Given the description of an element on the screen output the (x, y) to click on. 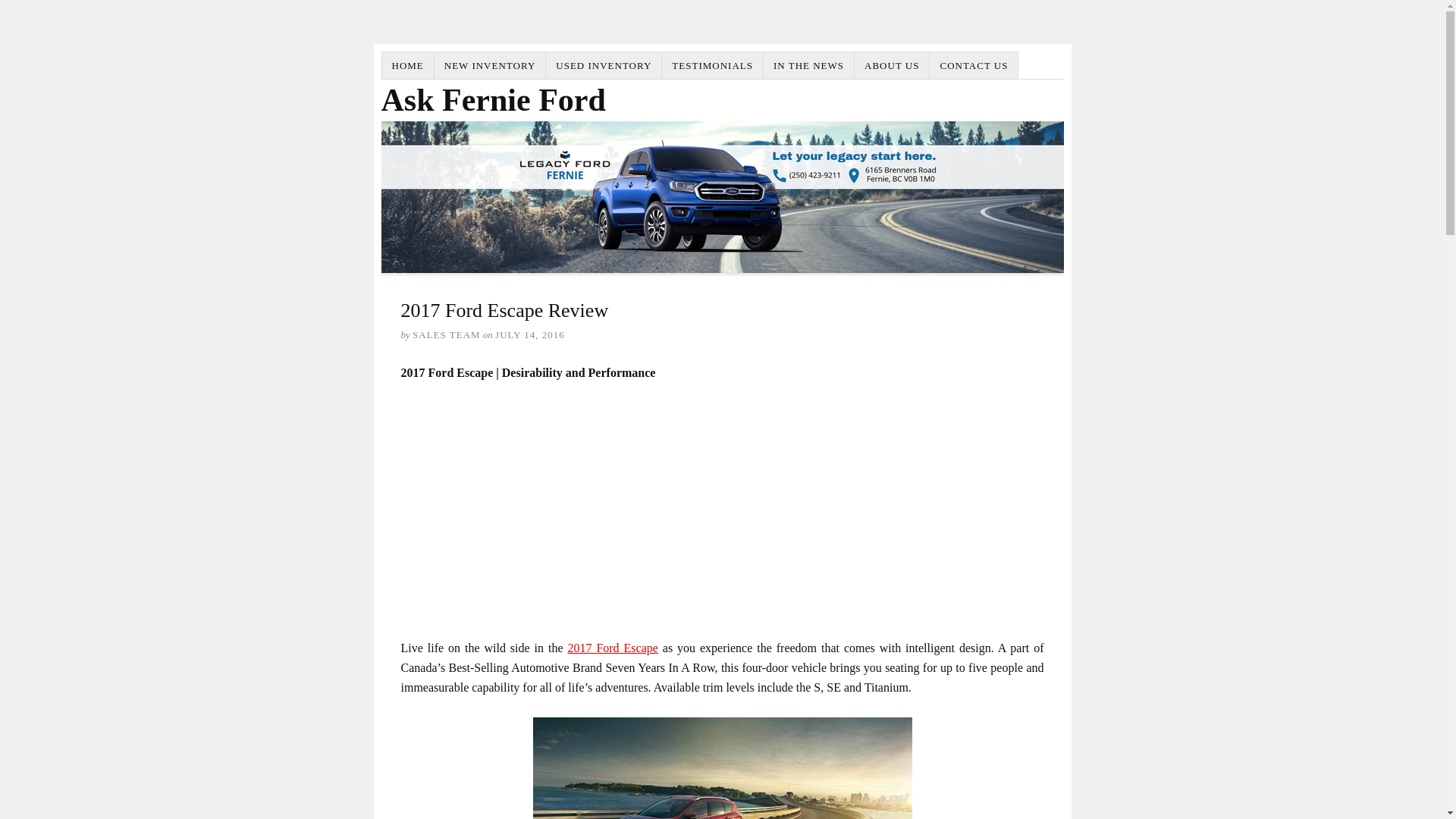
NEW INVENTORY (490, 65)
ABOUT US (892, 65)
2016-07-14 (529, 334)
CONTACT US (973, 65)
HOME (407, 65)
USED INVENTORY (604, 65)
TESTIMONIALS (712, 65)
2017 Ford Escape (612, 647)
IN THE NEWS (808, 65)
